Given the description of an element on the screen output the (x, y) to click on. 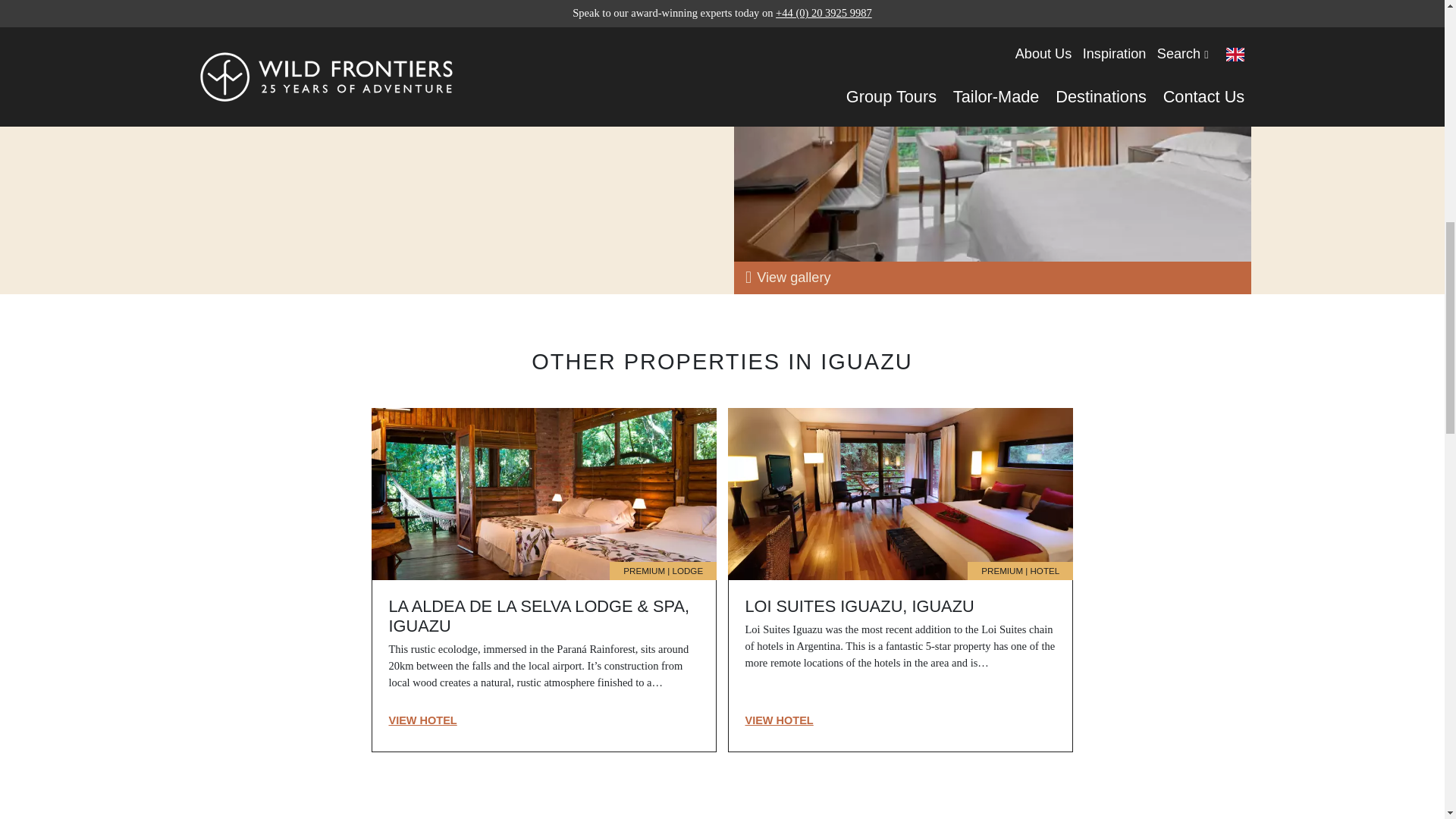
View gallery (992, 277)
Enquire now (266, 62)
VIEW HOTEL (422, 720)
VIEW HOTEL (778, 720)
